Given the description of an element on the screen output the (x, y) to click on. 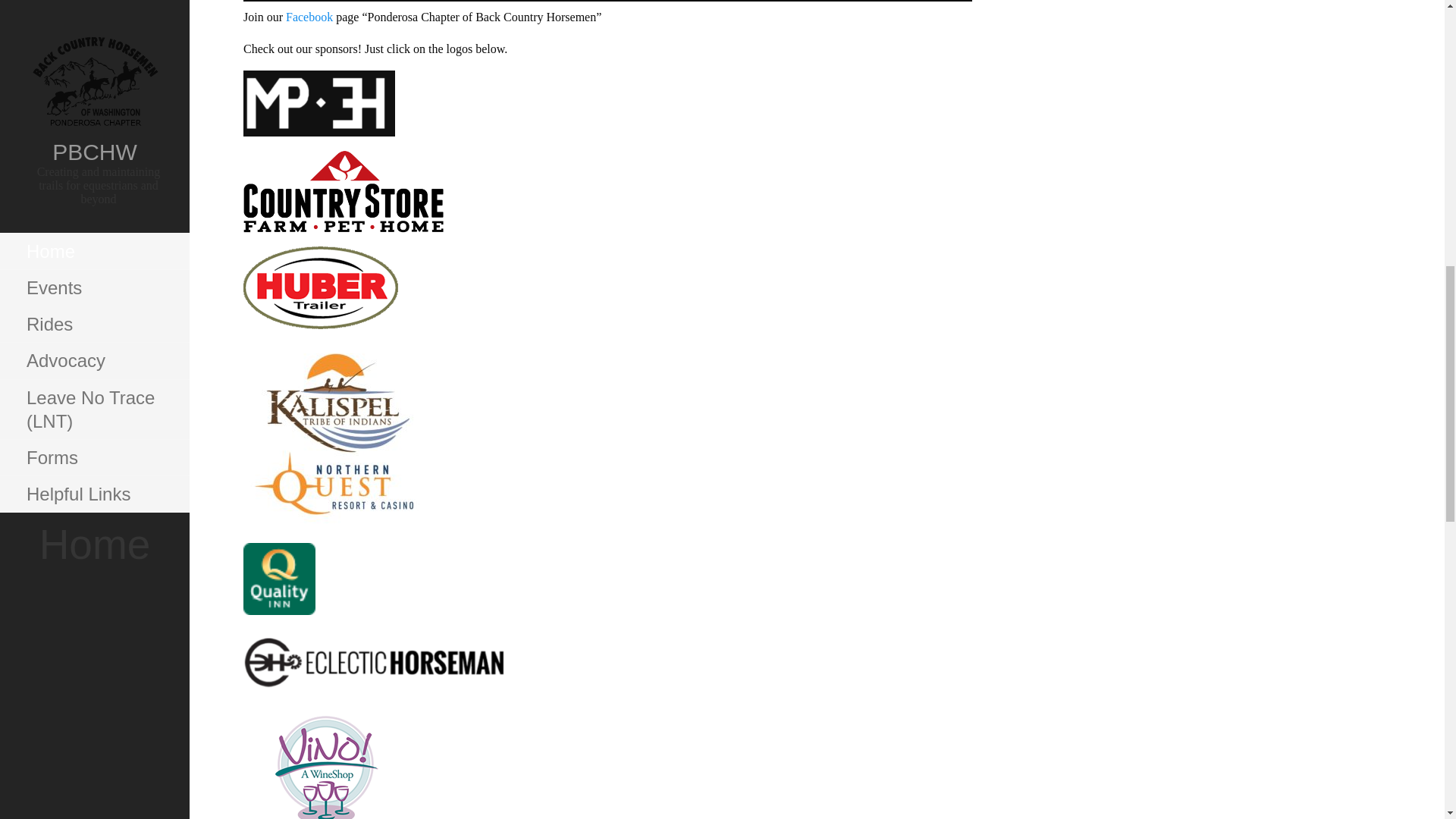
Facebook (310, 16)
